Given the description of an element on the screen output the (x, y) to click on. 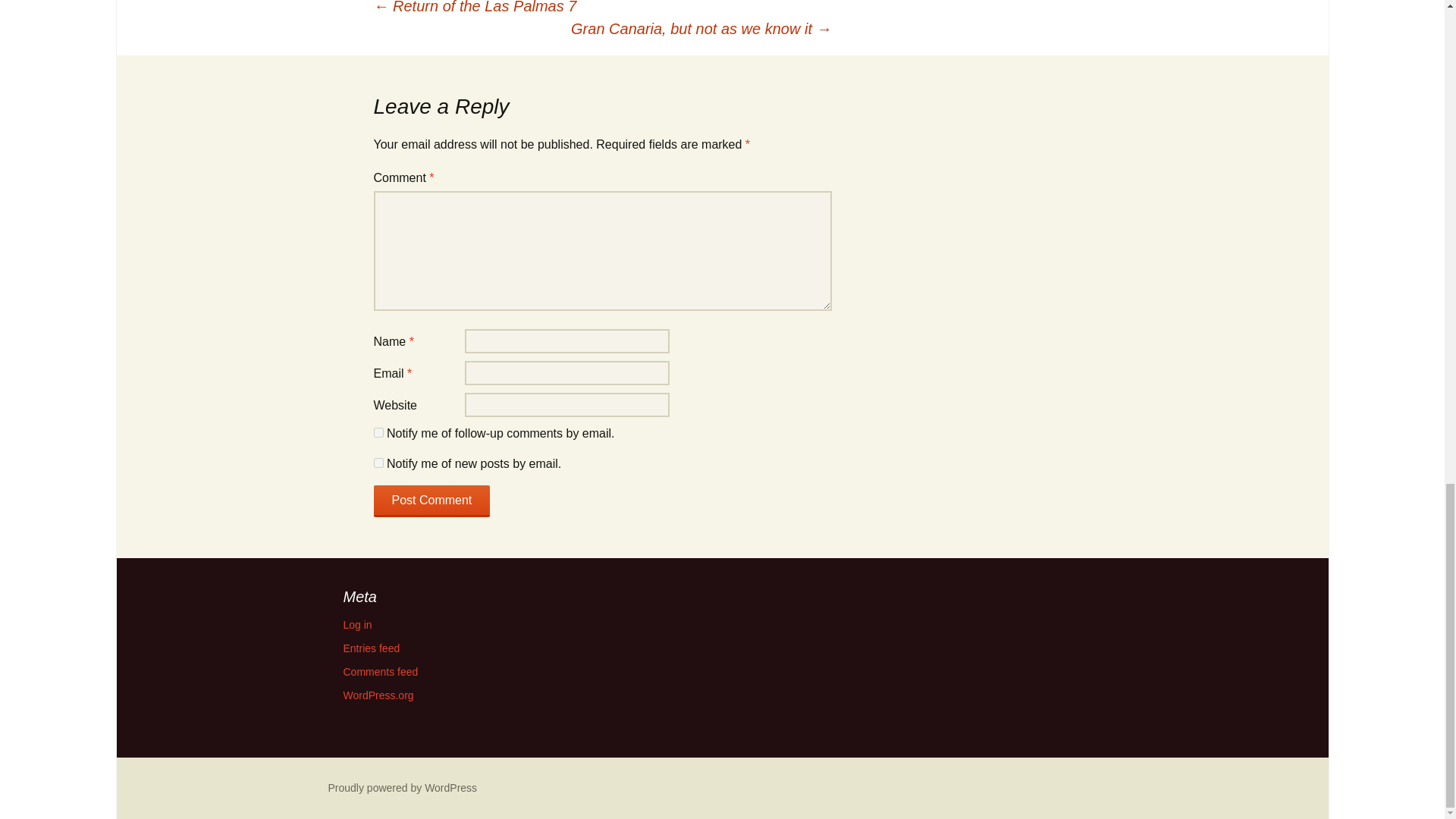
Post Comment (430, 500)
subscribe (377, 462)
subscribe (377, 432)
Comments feed (379, 671)
Post Comment (430, 500)
Entries feed (370, 648)
WordPress.org (377, 695)
Proudly powered by WordPress (402, 787)
Log in (356, 624)
